Given the description of an element on the screen output the (x, y) to click on. 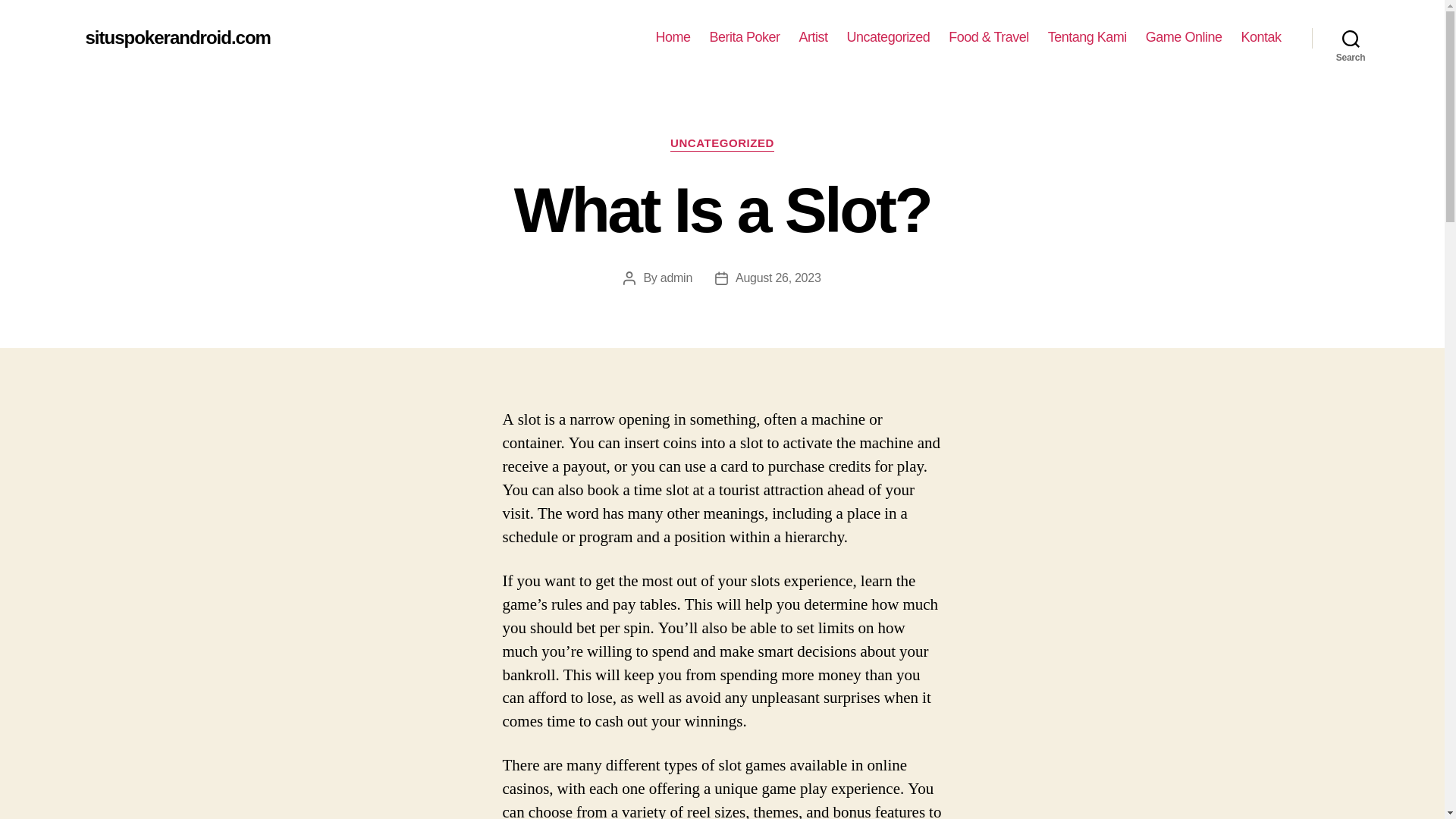
situspokerandroid.com (176, 37)
Game Online (1184, 37)
UNCATEGORIZED (721, 143)
August 26, 2023 (778, 277)
Artist (813, 37)
Tentang Kami (1087, 37)
Home (672, 37)
Kontak (1260, 37)
admin (677, 277)
Berita Poker (745, 37)
